Given the description of an element on the screen output the (x, y) to click on. 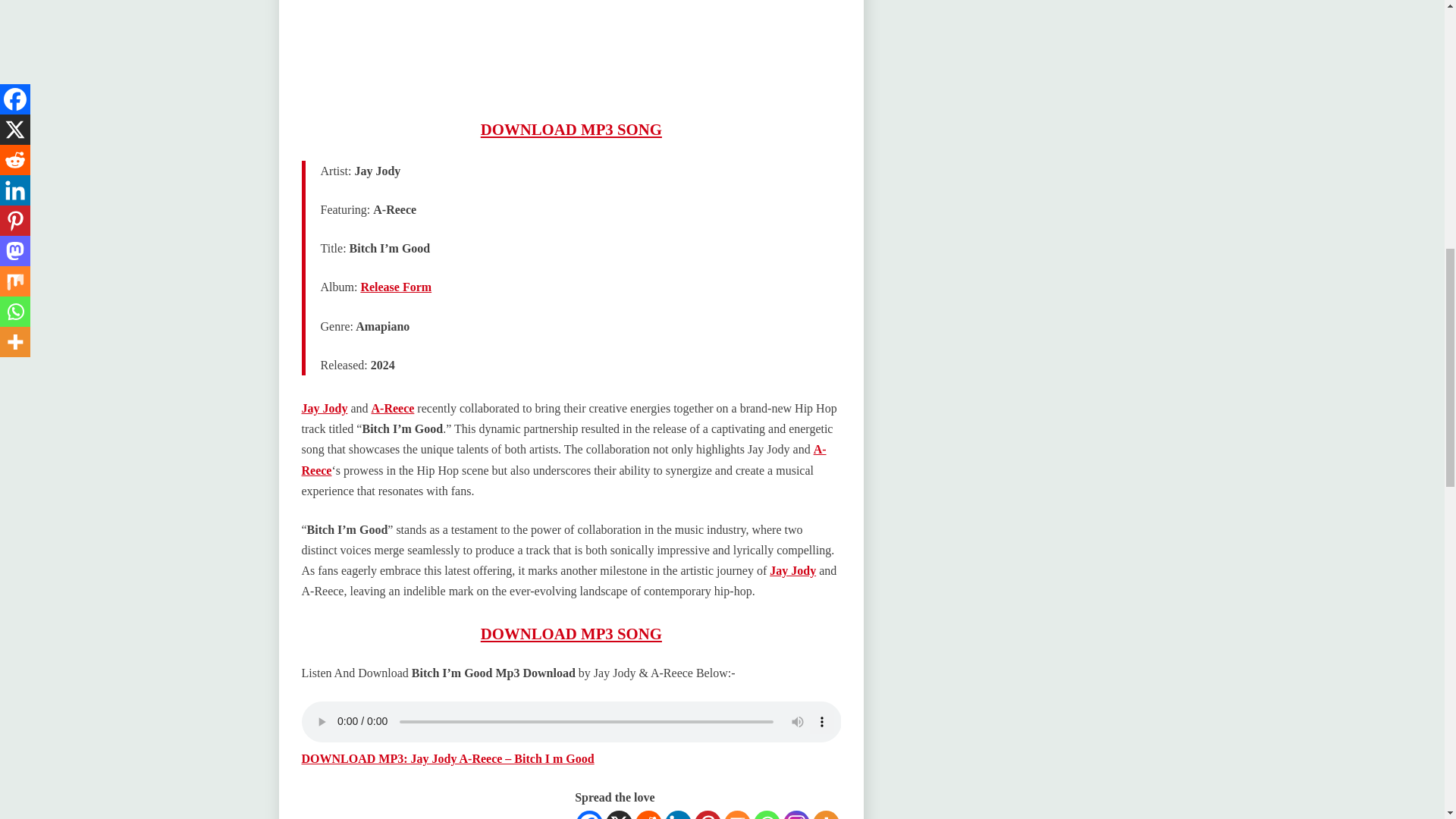
Release Form (394, 286)
Jay Jody (324, 408)
A-Reece (392, 408)
Reddit (648, 814)
Linkedin (678, 814)
X (618, 814)
Pinterest (707, 814)
Mix (737, 814)
DOWNLOAD MP3 SONG (571, 129)
Facebook (589, 814)
A-Reece (564, 459)
Whatsapp (767, 814)
More (826, 814)
DOWNLOAD MP3 SONG (571, 633)
Instagram (796, 814)
